Given the description of an element on the screen output the (x, y) to click on. 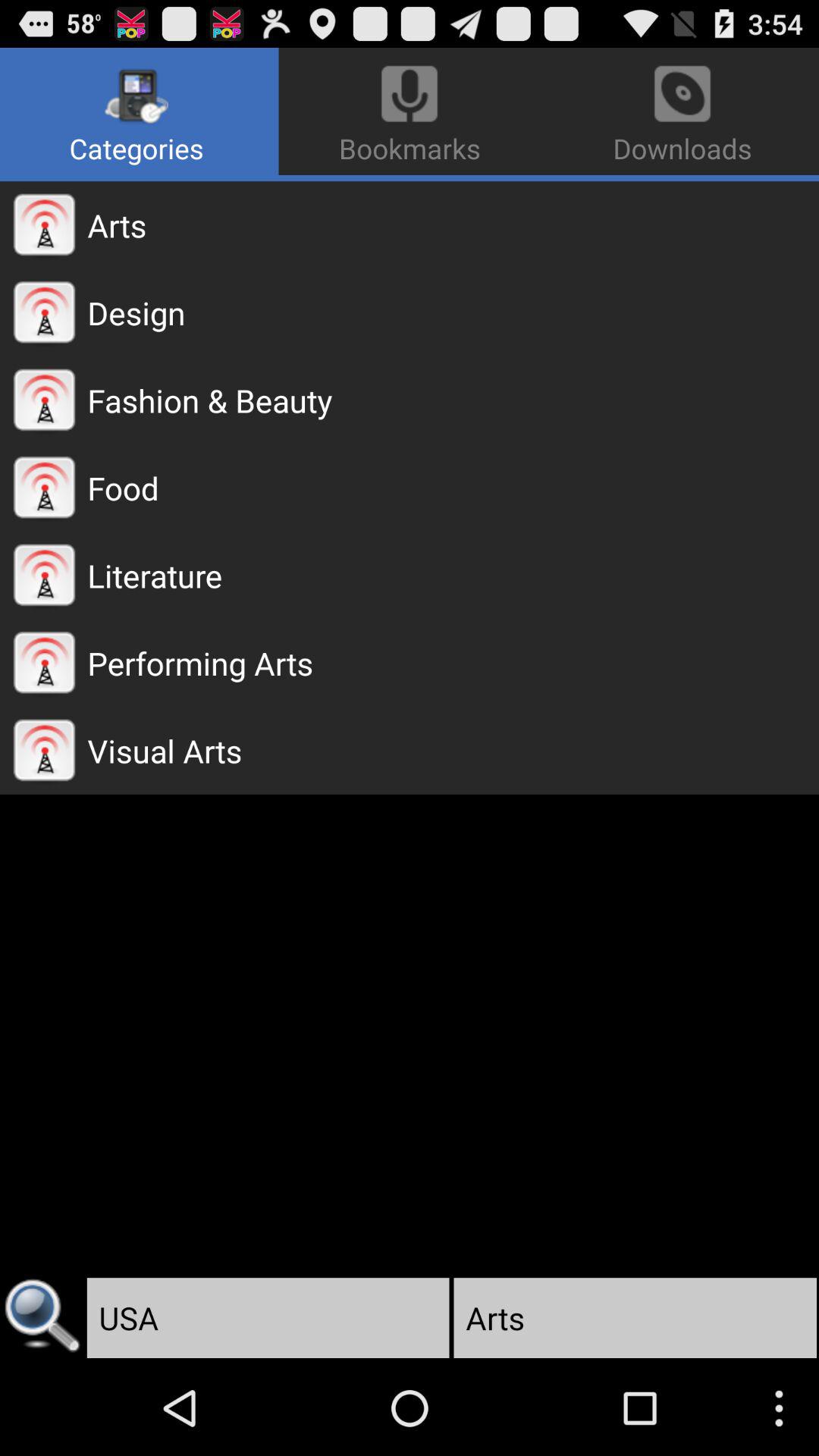
open item next to the downloads icon (139, 111)
